Given the description of an element on the screen output the (x, y) to click on. 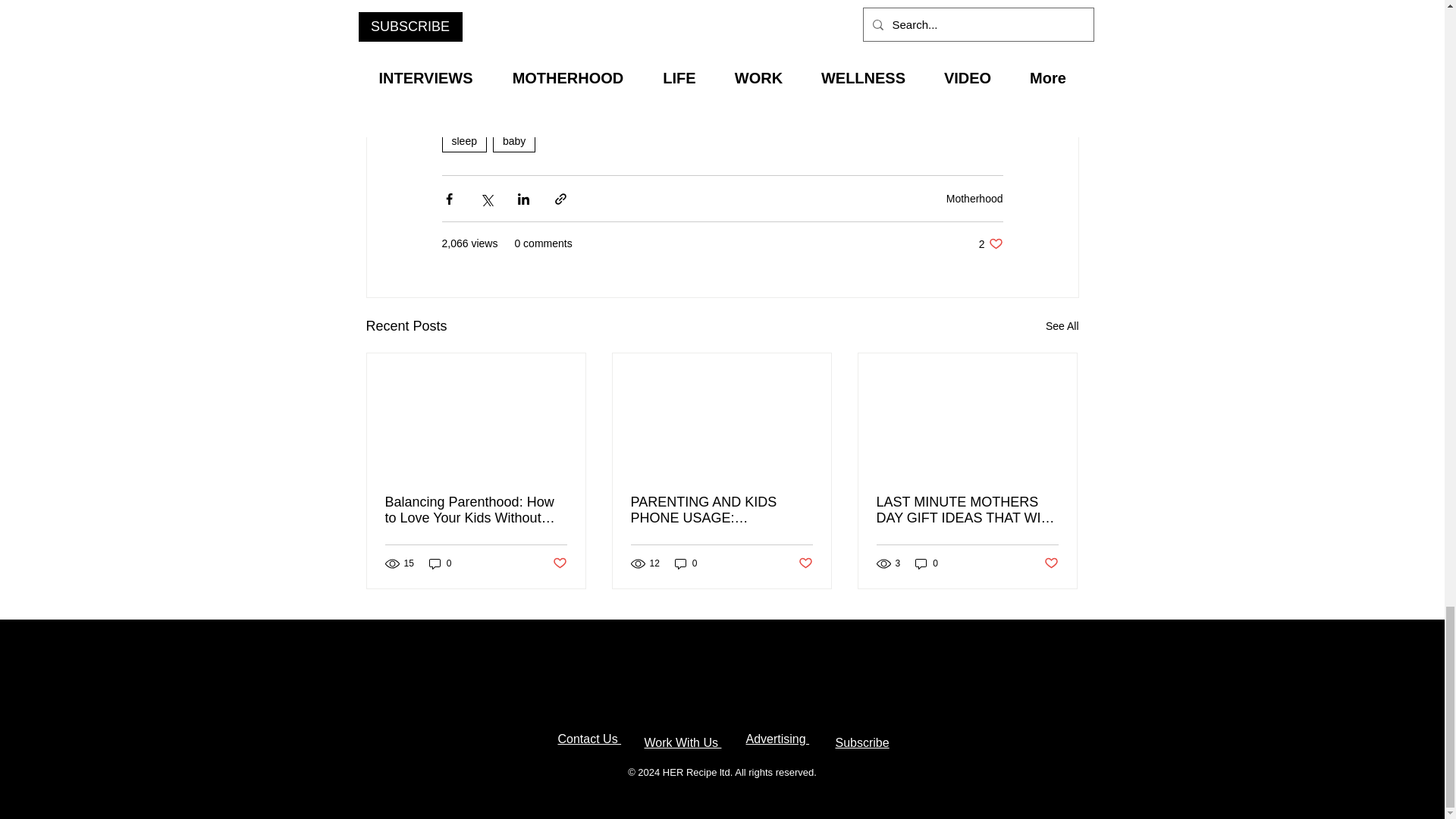
TheLittleSleepCoach (860, 2)
baby (514, 140)
sleep (463, 140)
